Given the description of an element on the screen output the (x, y) to click on. 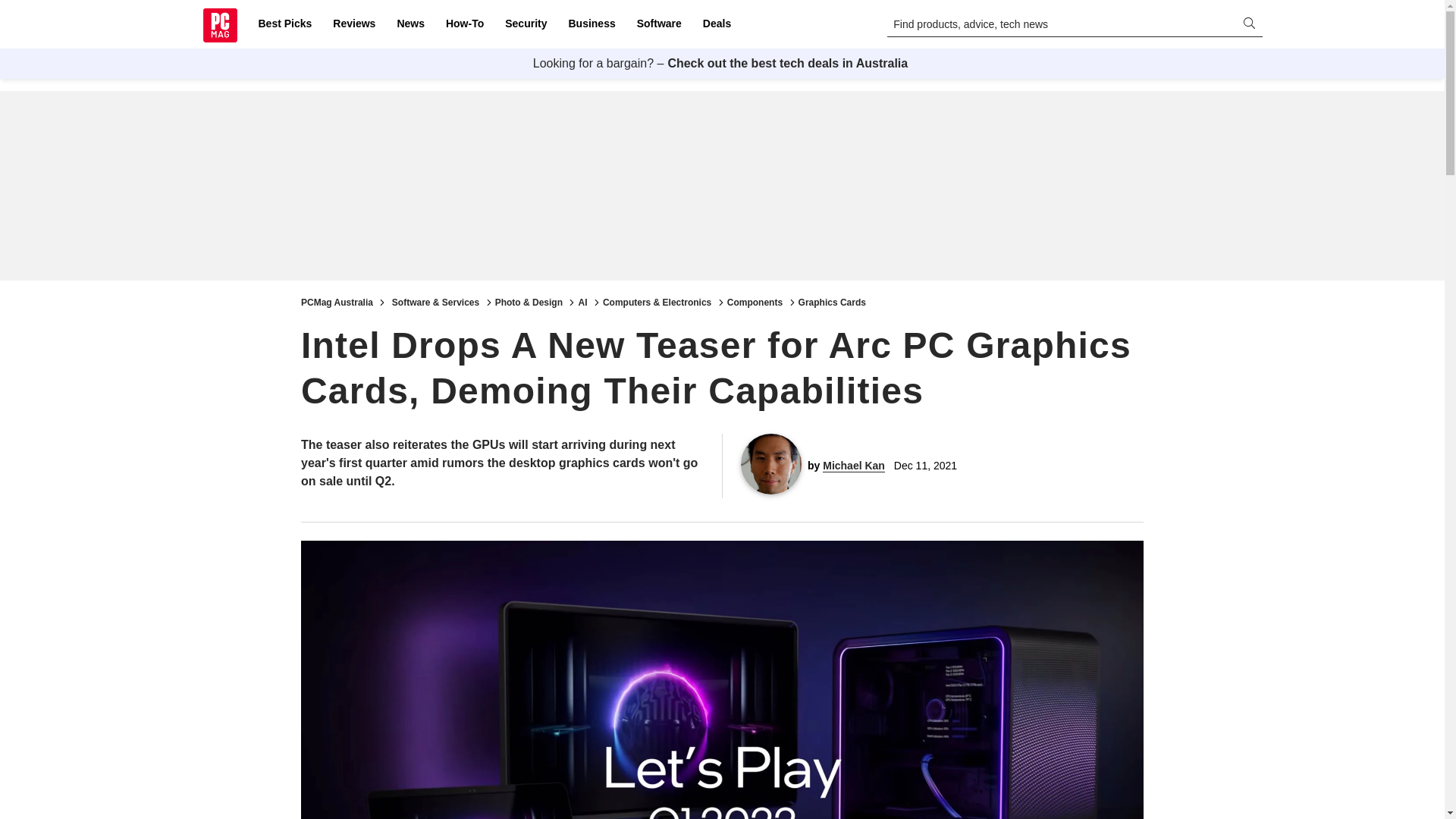
Best Picks (284, 24)
How-To (464, 24)
Security (526, 24)
Business (591, 24)
Reviews (353, 24)
